Given the description of an element on the screen output the (x, y) to click on. 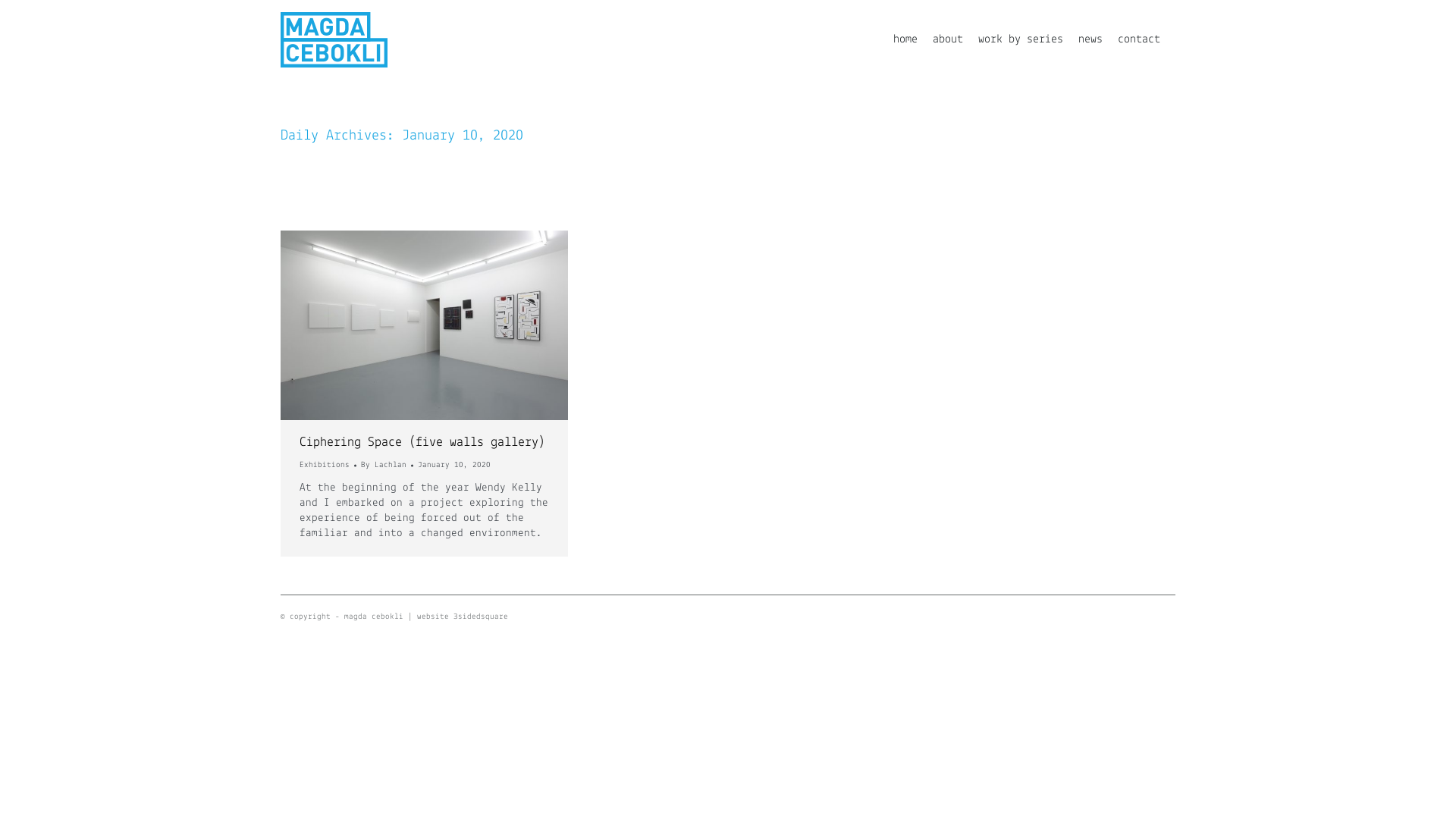
January 10, 2020 Element type: text (453, 465)
work by series Element type: text (1020, 39)
Ciphering Space (five walls gallery) Element type: text (422, 442)
_S8A2855_e Element type: hover (423, 325)
news Element type: text (1090, 39)
By Lachlan Element type: text (386, 465)
website 3sidedsquare Element type: text (462, 616)
home Element type: text (905, 39)
contact Element type: text (1138, 39)
about Element type: text (947, 39)
Exhibitions Element type: text (324, 465)
